Given the description of an element on the screen output the (x, y) to click on. 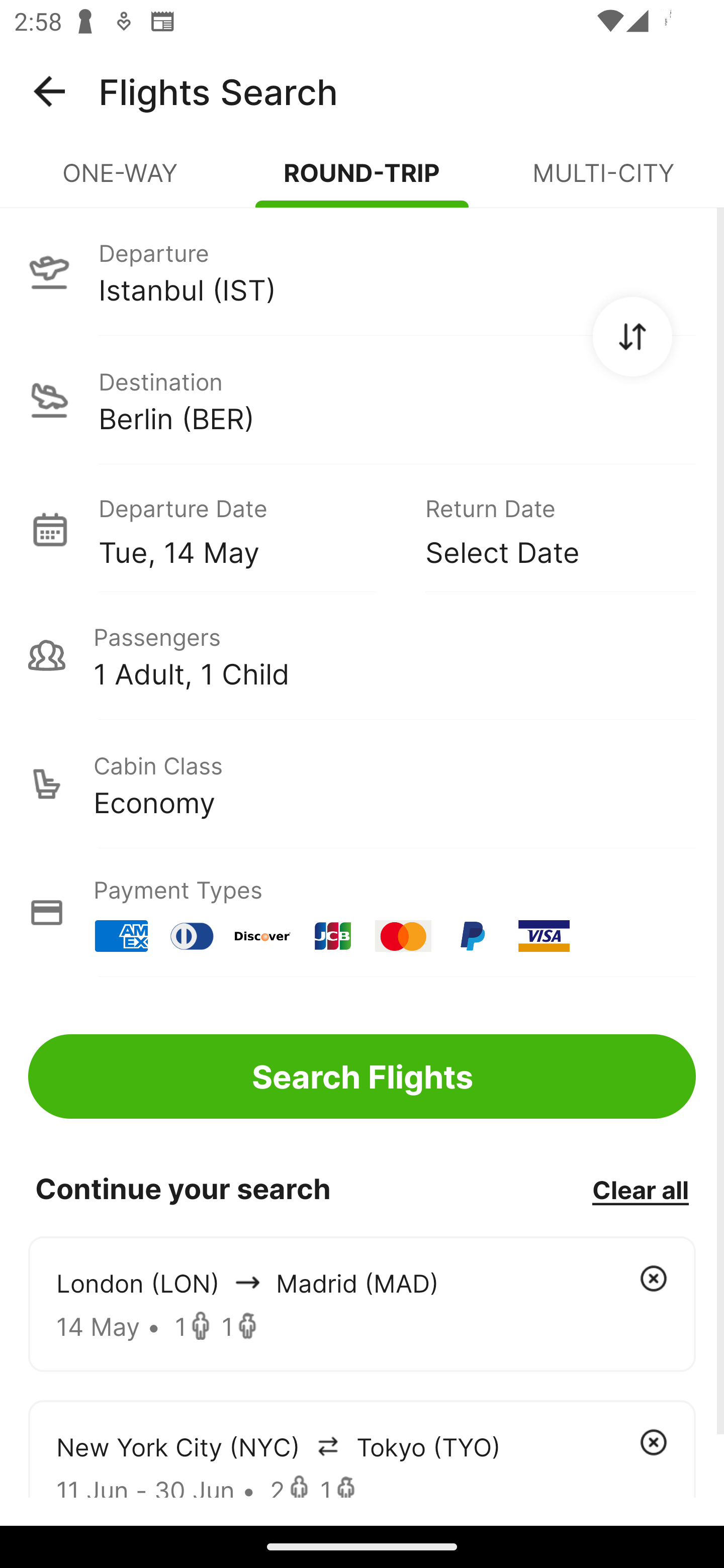
ONE-WAY (120, 180)
ROUND-TRIP (361, 180)
MULTI-CITY (603, 180)
Departure Istanbul (IST) (362, 270)
Destination Berlin (BER) (362, 400)
Departure Date Tue, 14 May (247, 528)
Return Date Select Date (546, 528)
Passengers 1 Adult, 1 Child (362, 655)
Cabin Class Economy (362, 783)
Payment Types (362, 912)
Search Flights (361, 1075)
